Given the description of an element on the screen output the (x, y) to click on. 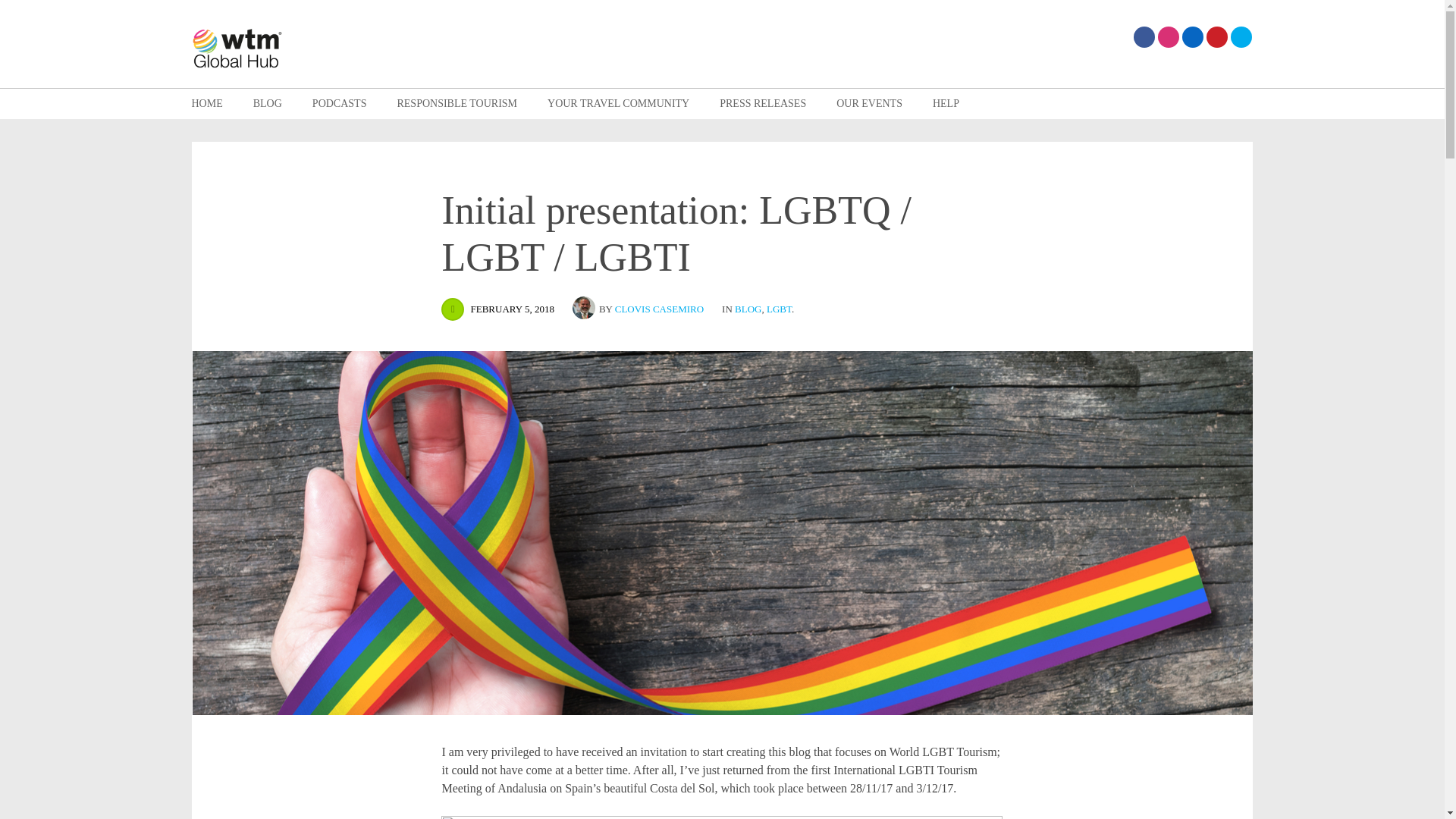
OUR EVENTS (868, 103)
PRESS RELEASES (762, 103)
BLOG (267, 103)
RESPONSIBLE TOURISM (456, 103)
Facebook (1143, 36)
Posts by Clovis Casemiro (585, 308)
YOUR TRAVEL COMMUNITY (617, 103)
Linkedin (1191, 36)
PODCASTS (339, 103)
